Given the description of an element on the screen output the (x, y) to click on. 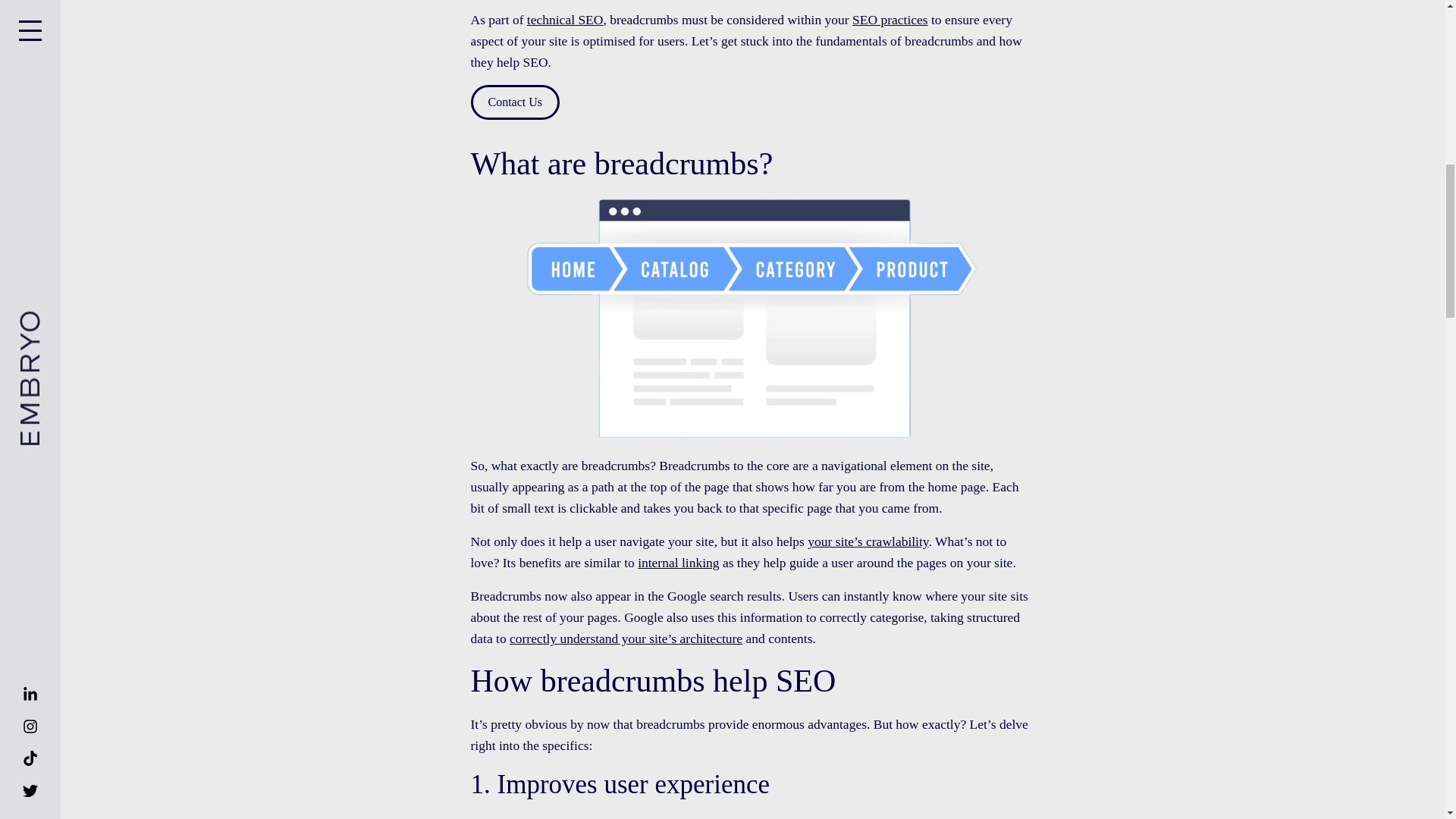
technical SEO (565, 19)
Contact Us (514, 102)
improve user experience (875, 817)
SEO practices (889, 19)
internal linking (678, 562)
